Given the description of an element on the screen output the (x, y) to click on. 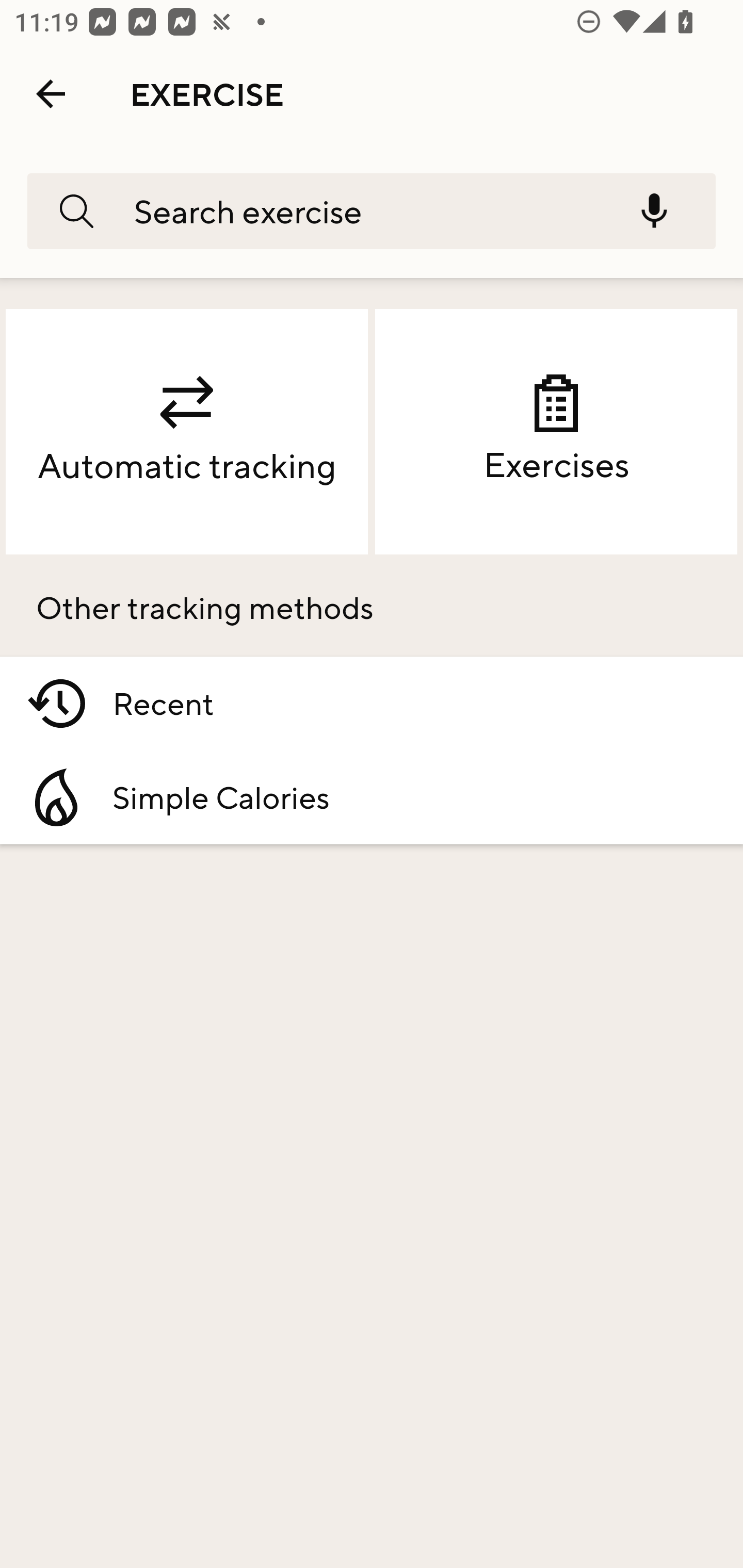
Navigate up (50, 93)
Search exercise (358, 210)
Automatic tracking (186, 431)
Exercises (556, 431)
Recent (371, 703)
Simple Calories (371, 797)
